Given the description of an element on the screen output the (x, y) to click on. 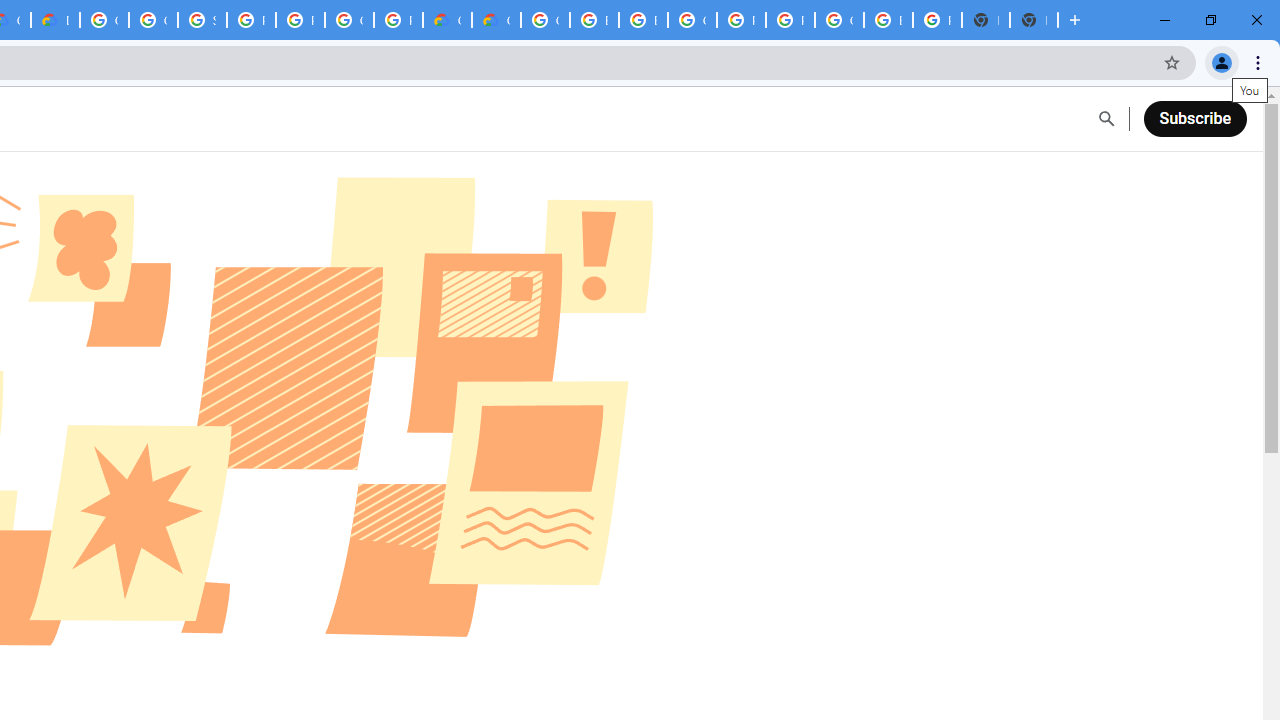
New Tab (1033, 20)
Customer Care | Google Cloud (447, 20)
Google Cloud Platform (839, 20)
Open Search (1106, 119)
Google Cloud Platform (545, 20)
Subscribe (1194, 118)
